Given the description of an element on the screen output the (x, y) to click on. 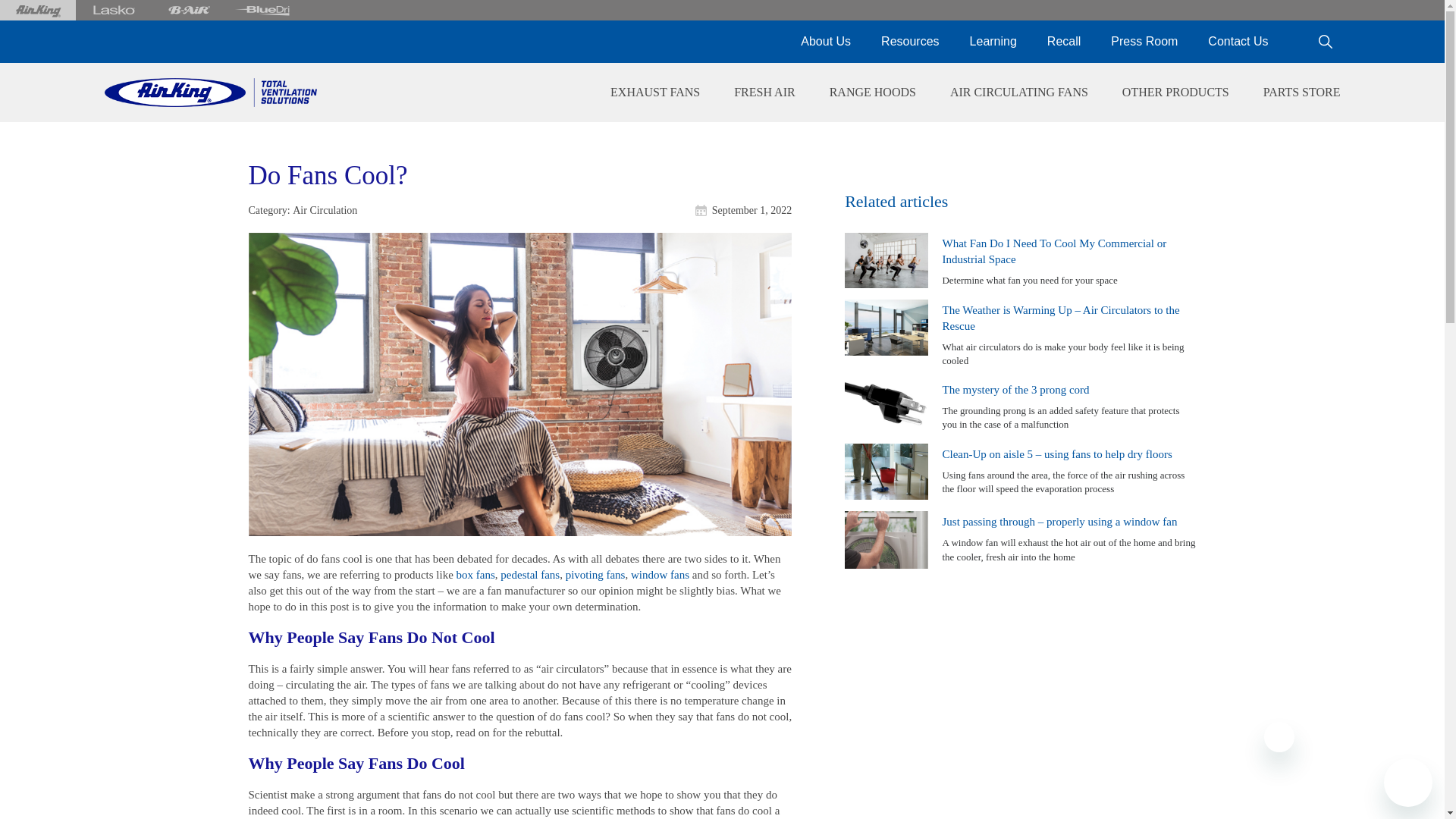
Recall (1064, 41)
Learning (993, 41)
About Us (826, 41)
Contact Us (1237, 41)
Resources (909, 41)
Close message (1278, 736)
Press Room (1144, 41)
Button to launch messaging window (1408, 782)
